Given the description of an element on the screen output the (x, y) to click on. 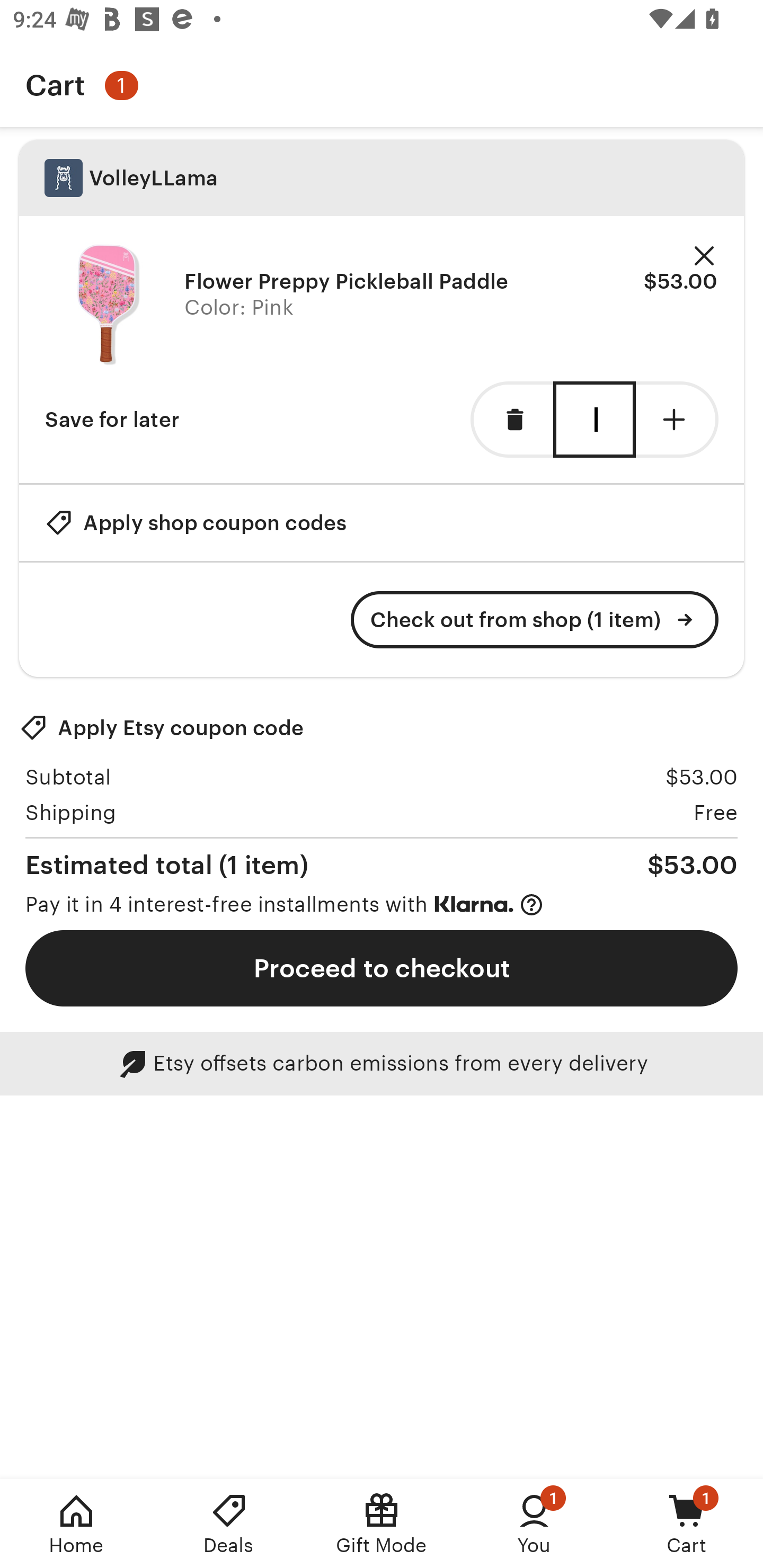
VolleyLLama (381, 177)
Remove (704, 255)
Flower Preppy Pickleball Paddle (107, 304)
Flower Preppy Pickleball Paddle (346, 281)
Save for later (112, 419)
Remove item from cart (511, 419)
Add one unit to cart (676, 419)
Apply shop coupon codes (195, 522)
Check out from shop (1 item) (534, 619)
Apply Etsy coupon code (161, 727)
Proceed to checkout (381, 967)
Home (76, 1523)
Deals (228, 1523)
Gift Mode (381, 1523)
You, 1 new notification You (533, 1523)
